Given the description of an element on the screen output the (x, y) to click on. 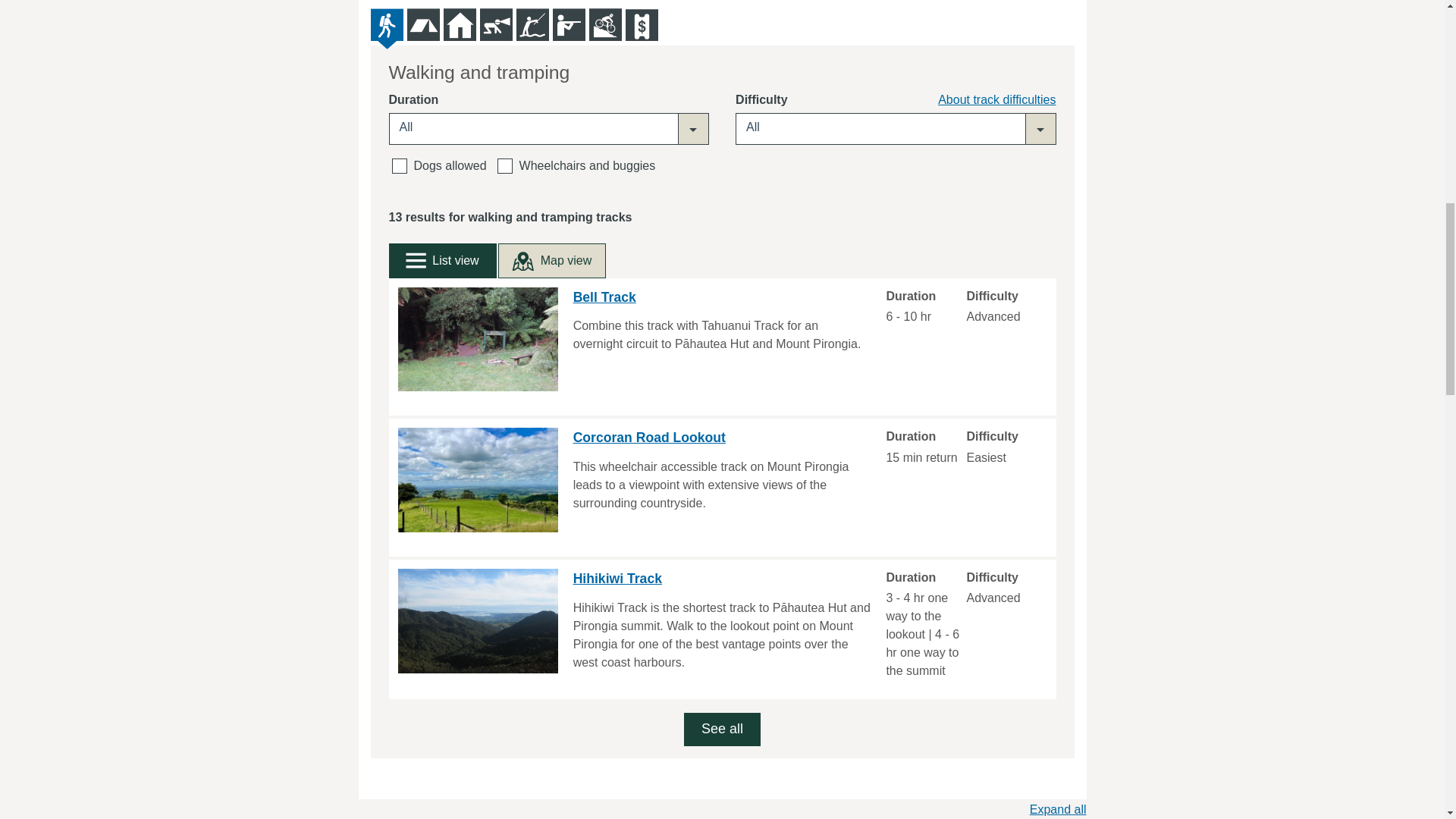
Camping (422, 24)
Hunting (568, 24)
Fishing (531, 24)
Stay in a hut (459, 24)
Caving (495, 24)
Walking and tramping (386, 24)
Commercial operators (641, 24)
Mountain biking (604, 24)
